Given the description of an element on the screen output the (x, y) to click on. 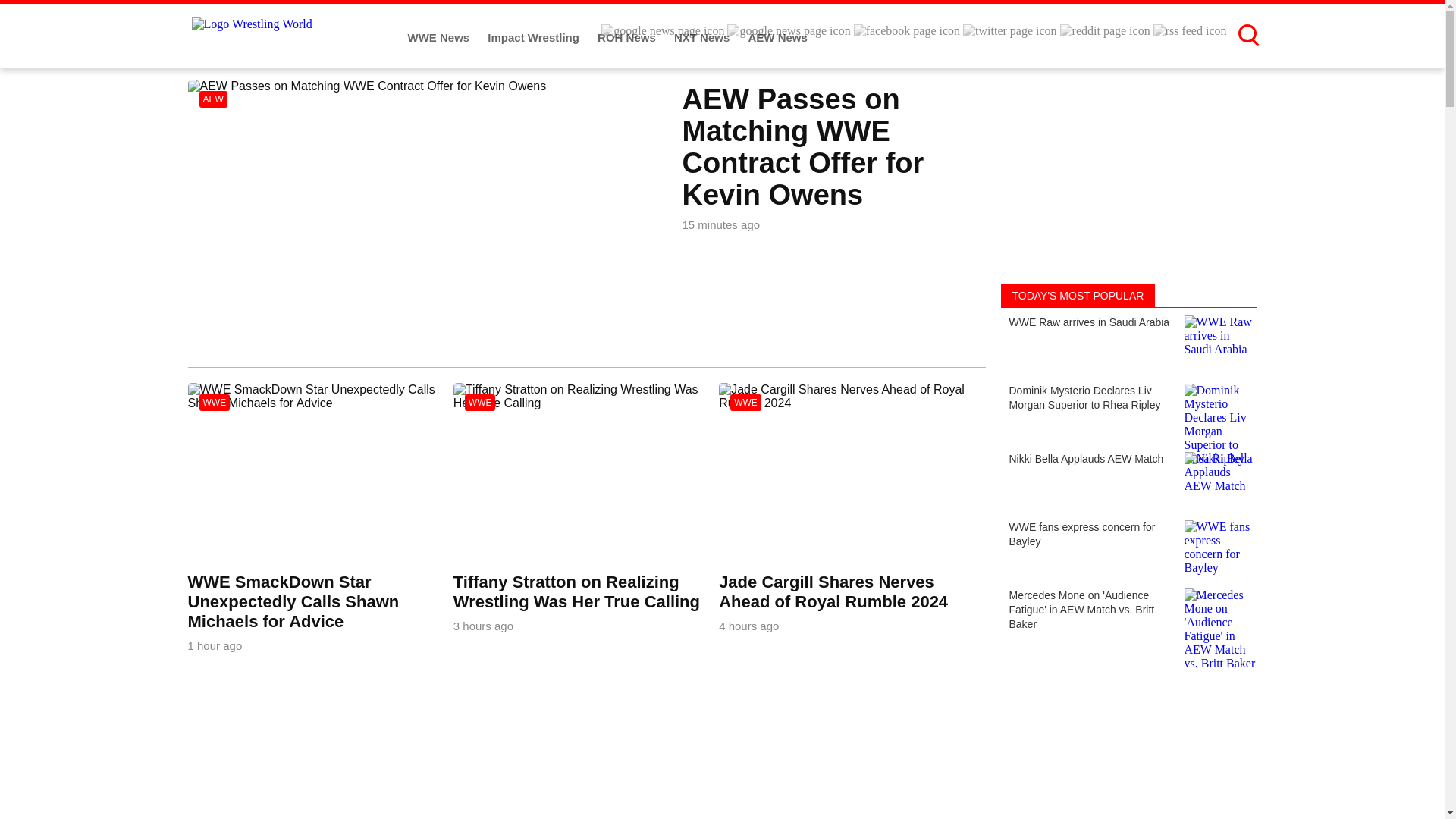
Impact Wrestling (534, 37)
ROH News (627, 37)
WWE News (440, 37)
NXT News (703, 37)
AEW News (777, 37)
